Given the description of an element on the screen output the (x, y) to click on. 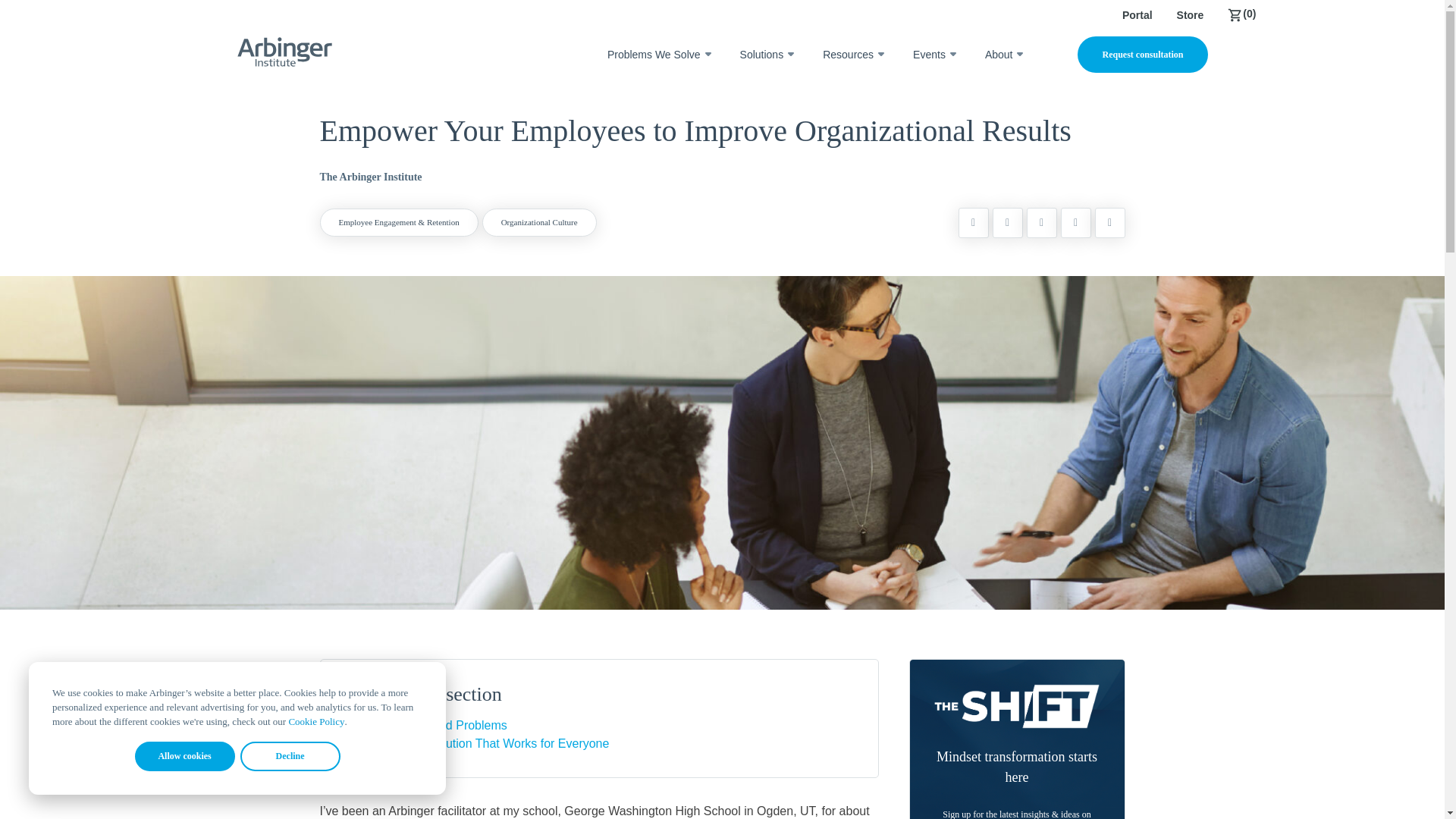
Store (1190, 15)
Solutions (761, 54)
Problems We Solve (653, 54)
Resources (847, 54)
Portal (1137, 15)
